Given the description of an element on the screen output the (x, y) to click on. 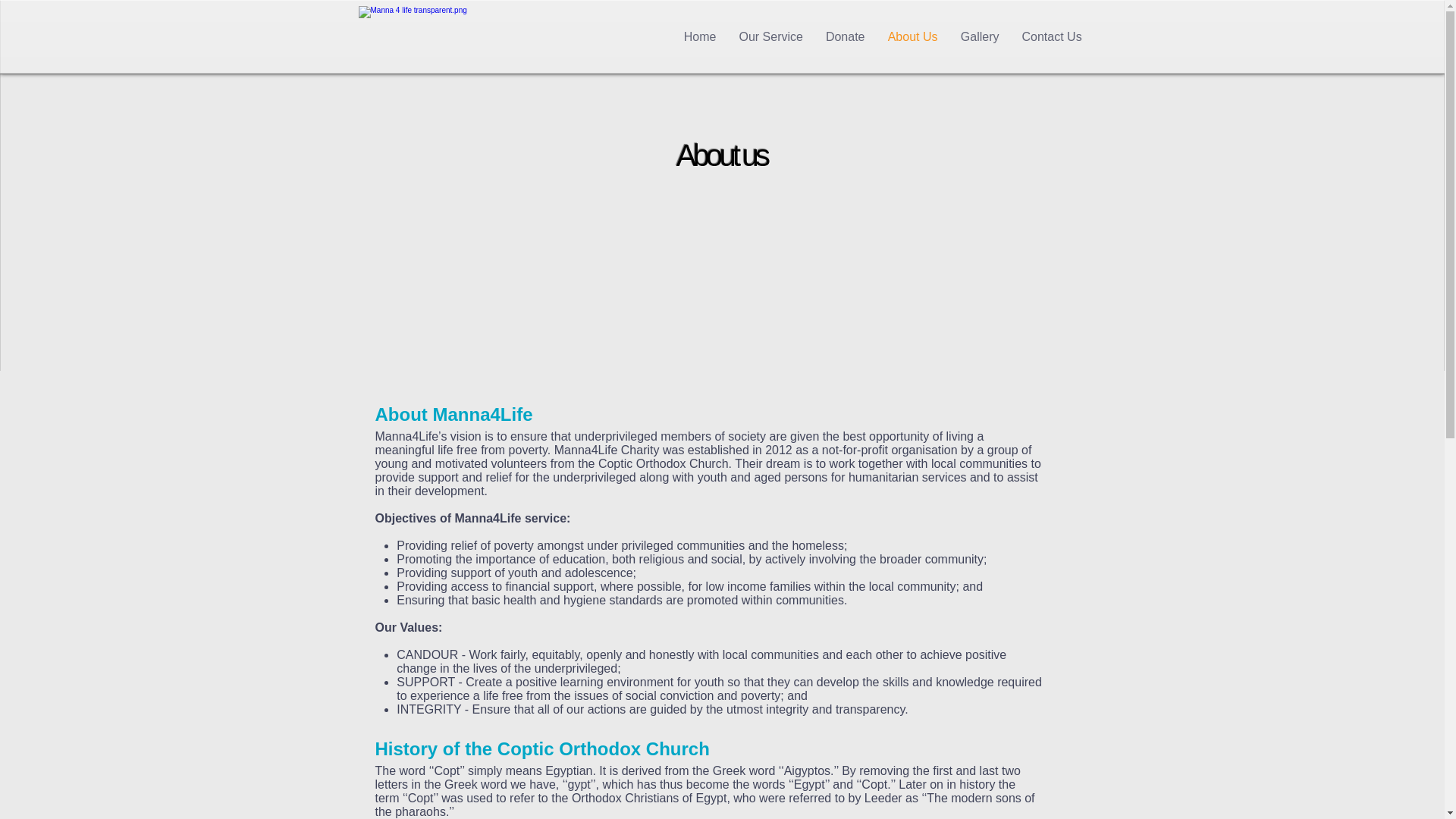
Donate Element type: text (845, 37)
Gallery Element type: text (979, 37)
About Us Element type: text (912, 37)
Contact Us Element type: text (1051, 37)
Our Service Element type: text (771, 37)
Home Element type: text (699, 37)
